Given the description of an element on the screen output the (x, y) to click on. 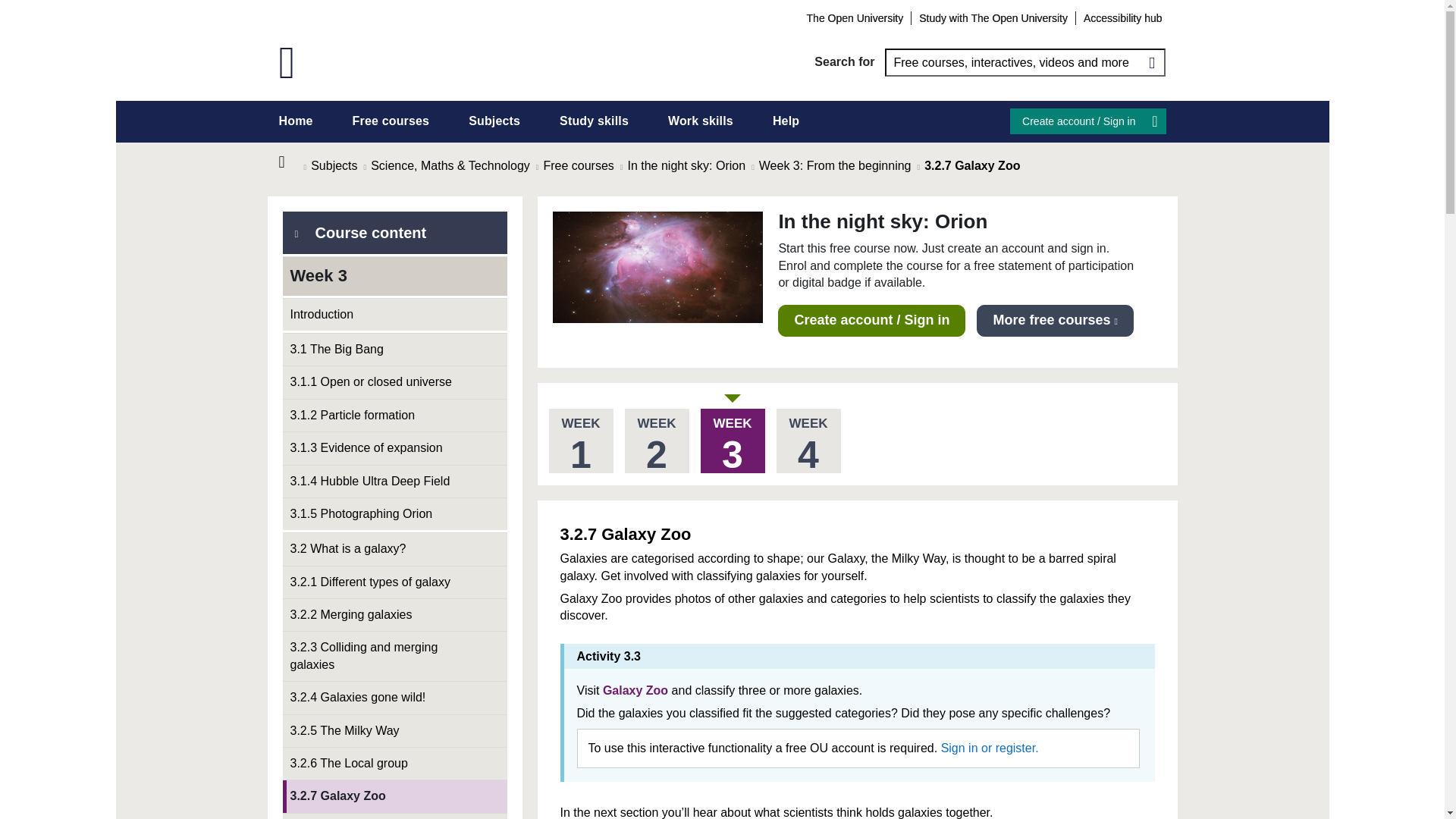
Study skills (593, 120)
Help (786, 120)
Work skills (700, 120)
Subjects (493, 120)
Study with The Open University (993, 17)
Home (296, 120)
Home (291, 162)
Search (1151, 62)
Accessibility hub (1123, 17)
The Open University (855, 17)
Free courses (390, 120)
